Given the description of an element on the screen output the (x, y) to click on. 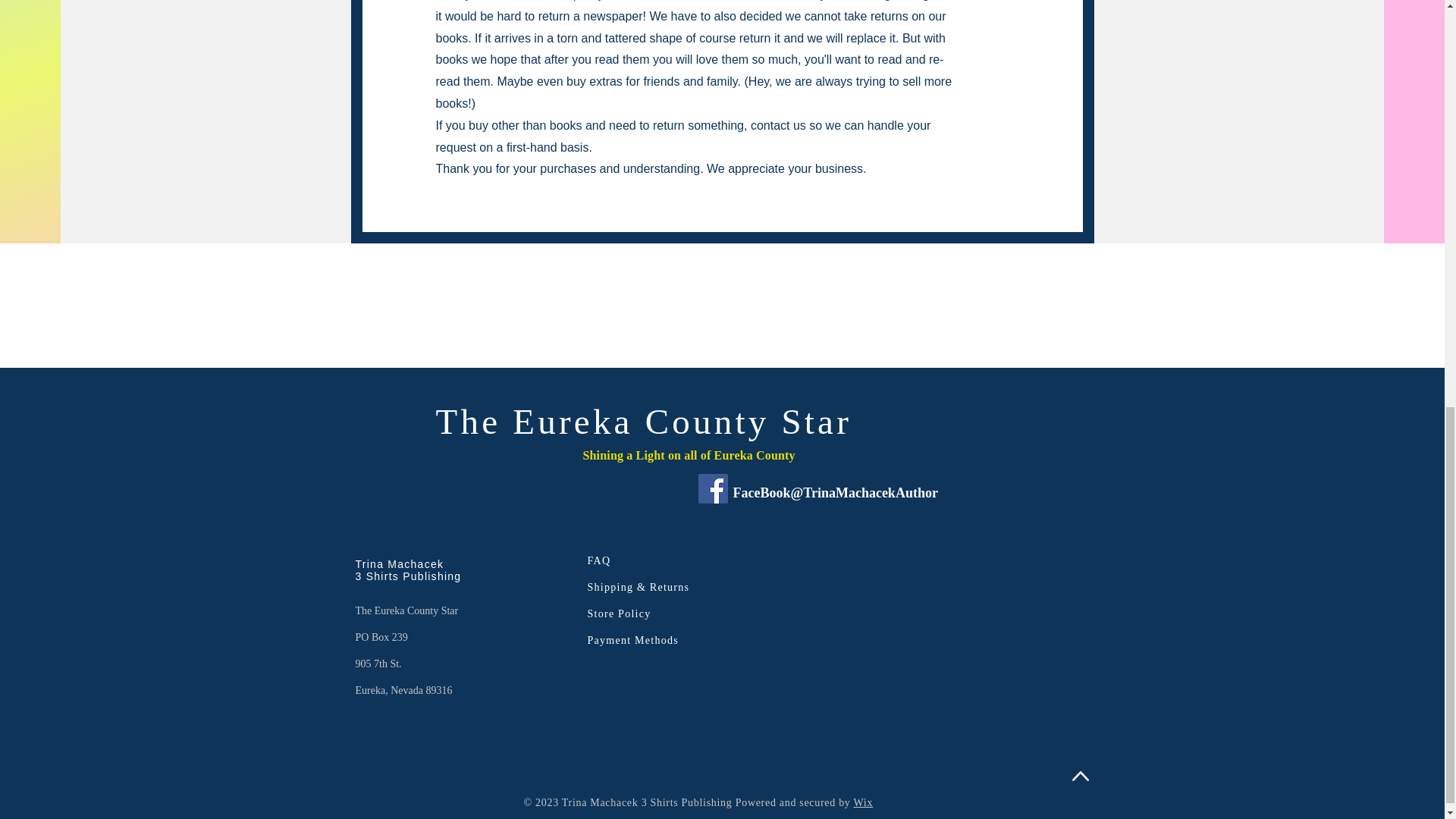
Wix (863, 802)
Payment Methods (632, 640)
Store Policy (618, 613)
FAQ (598, 560)
